Given the description of an element on the screen output the (x, y) to click on. 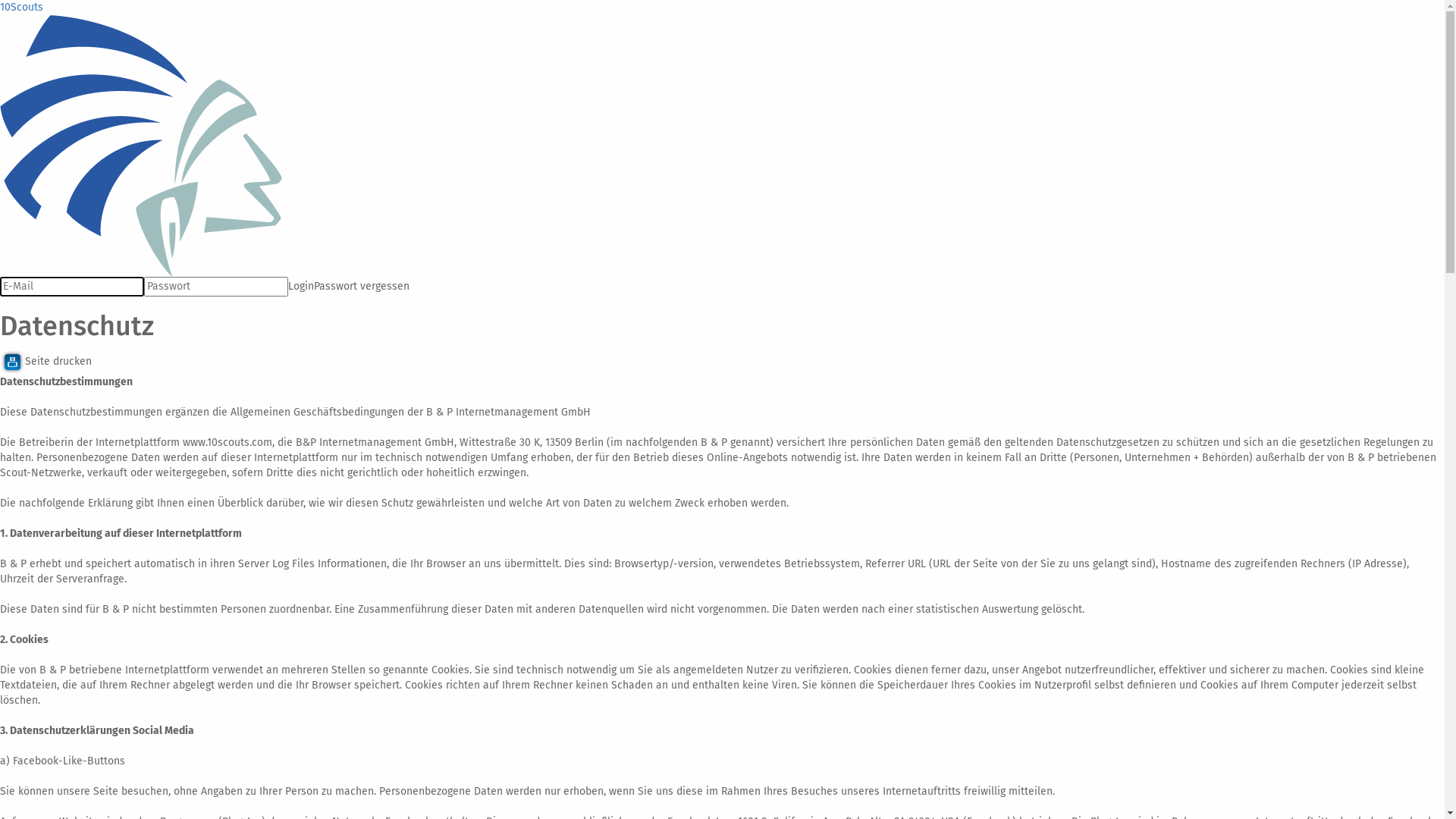
10Scouts Element type: text (21, 6)
